Given the description of an element on the screen output the (x, y) to click on. 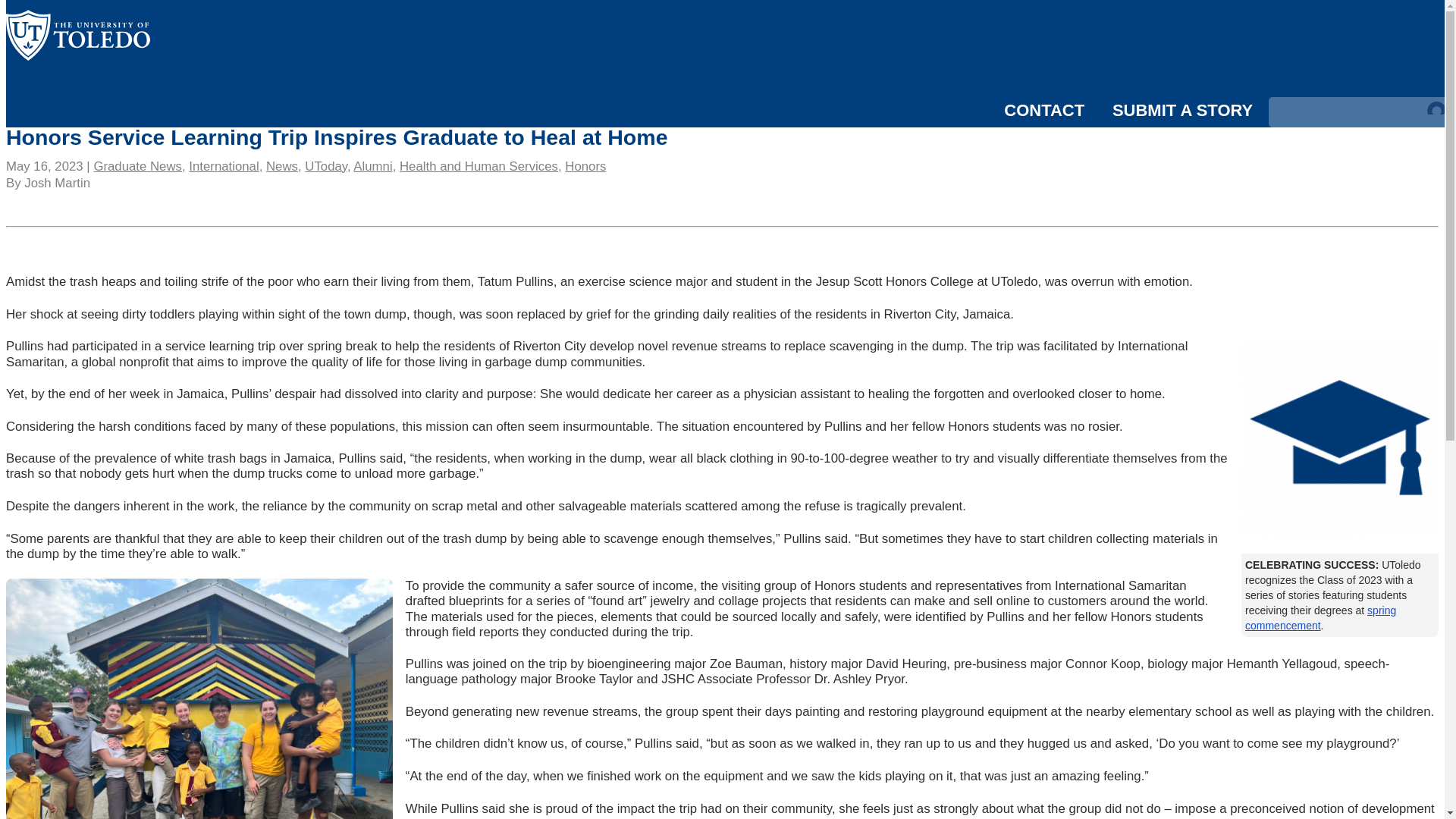
Graduate News (137, 165)
International (224, 165)
UToday (325, 165)
Honors (584, 165)
News (282, 165)
Health and Human Services (477, 165)
spring commencement (1320, 617)
SUBMIT A STORY (1182, 109)
Alumni (372, 165)
CONTACT (1044, 109)
